Given the description of an element on the screen output the (x, y) to click on. 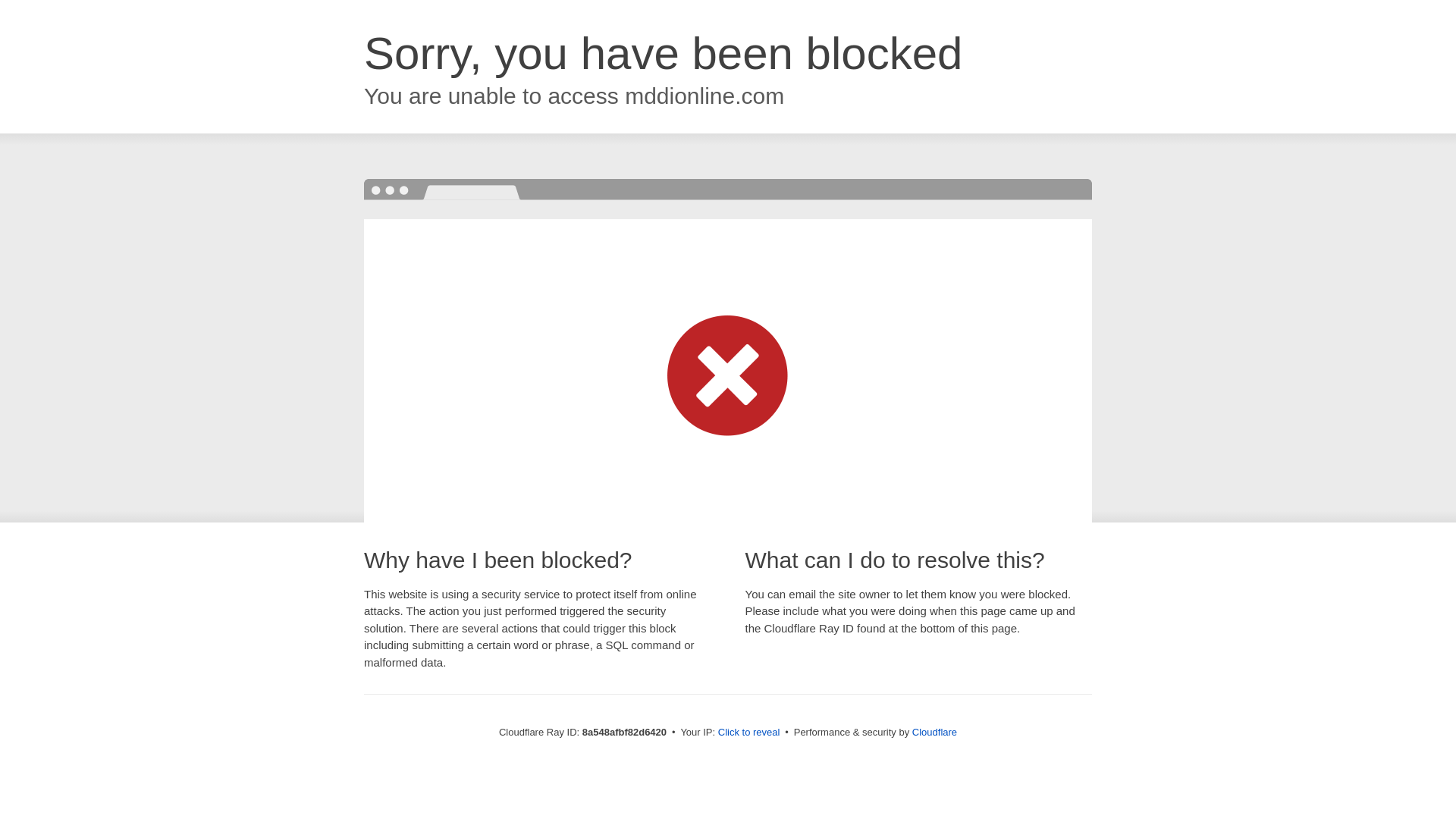
Click to reveal (748, 732)
Cloudflare (934, 731)
